Given the description of an element on the screen output the (x, y) to click on. 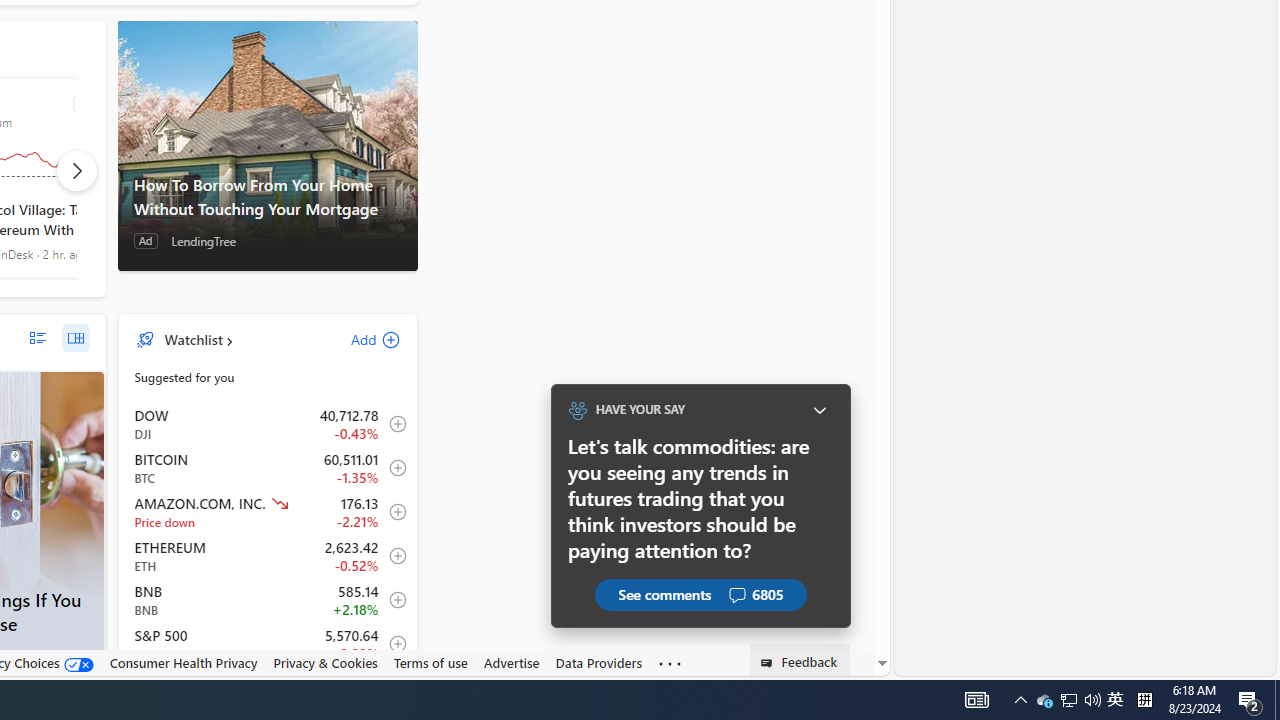
How To Borrow From Your Home Without Touching Your Mortgage (267, 196)
Advertise (511, 662)
Class: oneFooter_seeMore-DS-EntryPoint1-1 (669, 663)
Consumer Health Privacy (183, 662)
DJI DOW decrease 40,712.78 -177.71 -0.43% item0 (267, 423)
Class: feedback_link_icon-DS-EntryPoint1-1 (770, 663)
Add (358, 339)
Privacy & Cookies (324, 663)
Privacy & Cookies (324, 662)
Advertise (511, 663)
Consumer Health Privacy (183, 663)
How To Borrow From Your Home Without Touching Your Mortgage (267, 145)
Data Providers (598, 663)
